Given the description of an element on the screen output the (x, y) to click on. 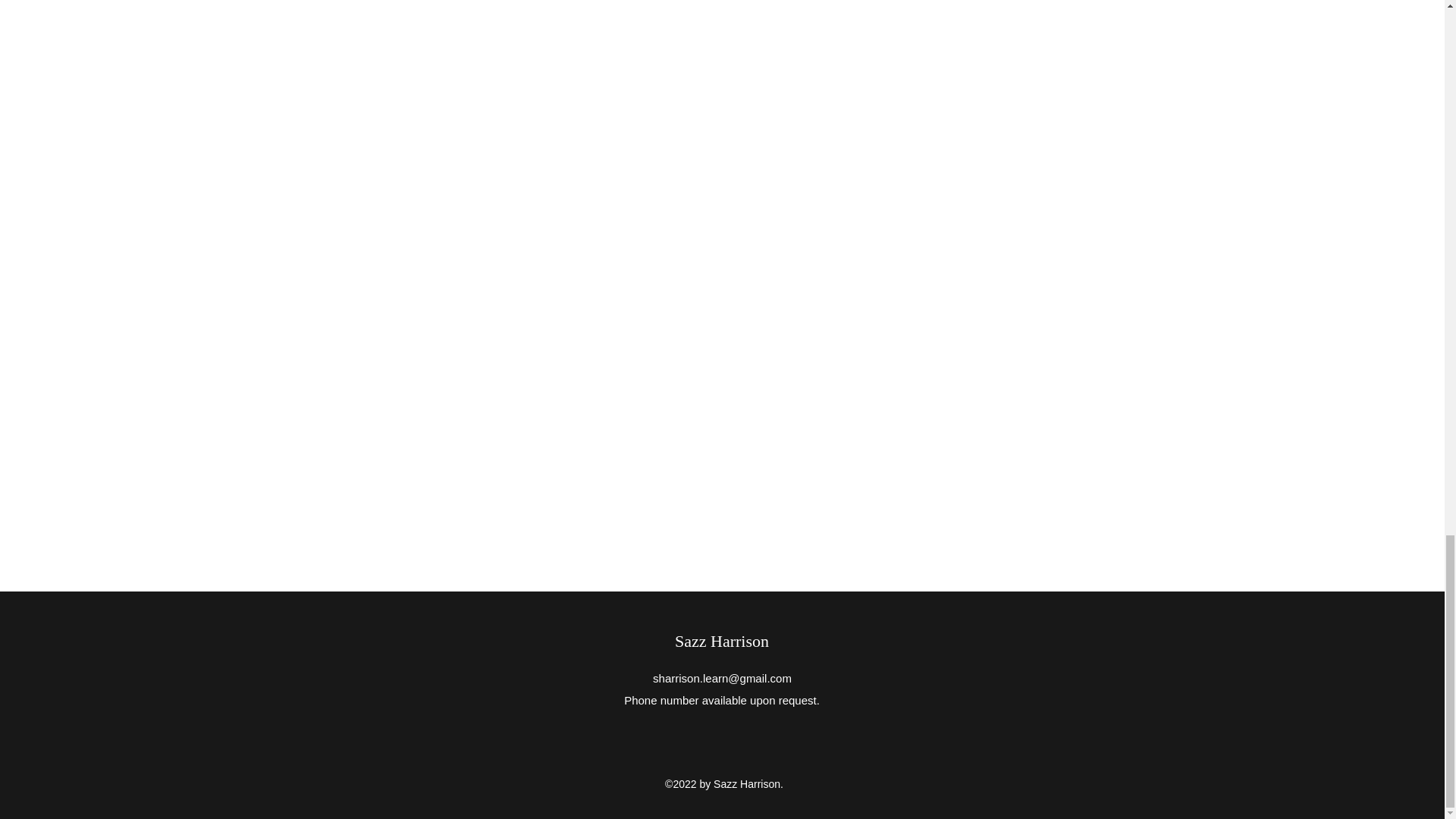
Sazz Harrison (721, 640)
